Given the description of an element on the screen output the (x, y) to click on. 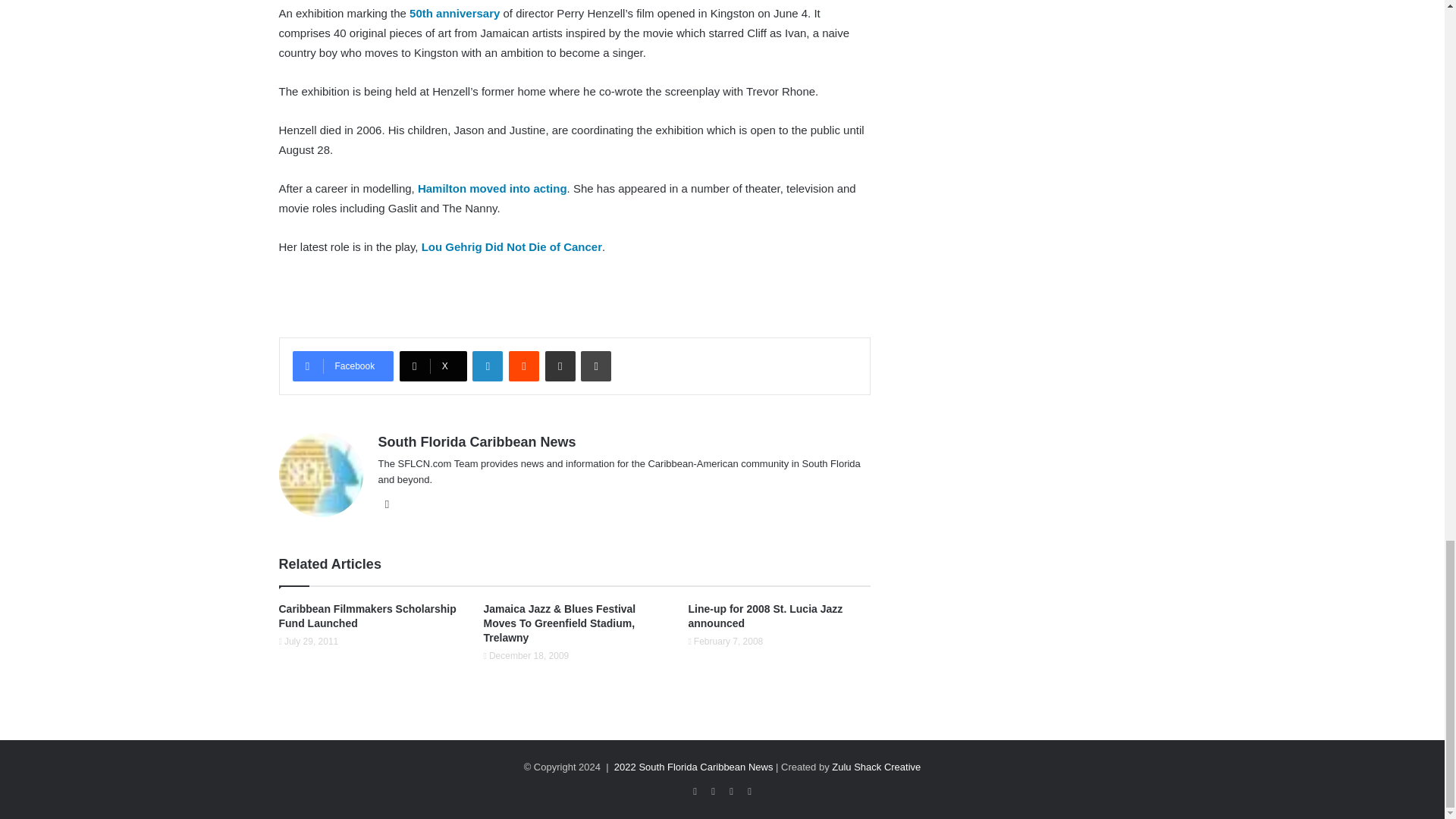
X (432, 366)
Share via Email (559, 366)
Reddit (523, 366)
Facebook (343, 366)
Lou Gehrig Did Not Die of Cancer (512, 246)
LinkedIn (486, 366)
Print (595, 366)
50th anniversary (452, 12)
Facebook (343, 366)
Hamilton moved into acting (492, 187)
